Given the description of an element on the screen output the (x, y) to click on. 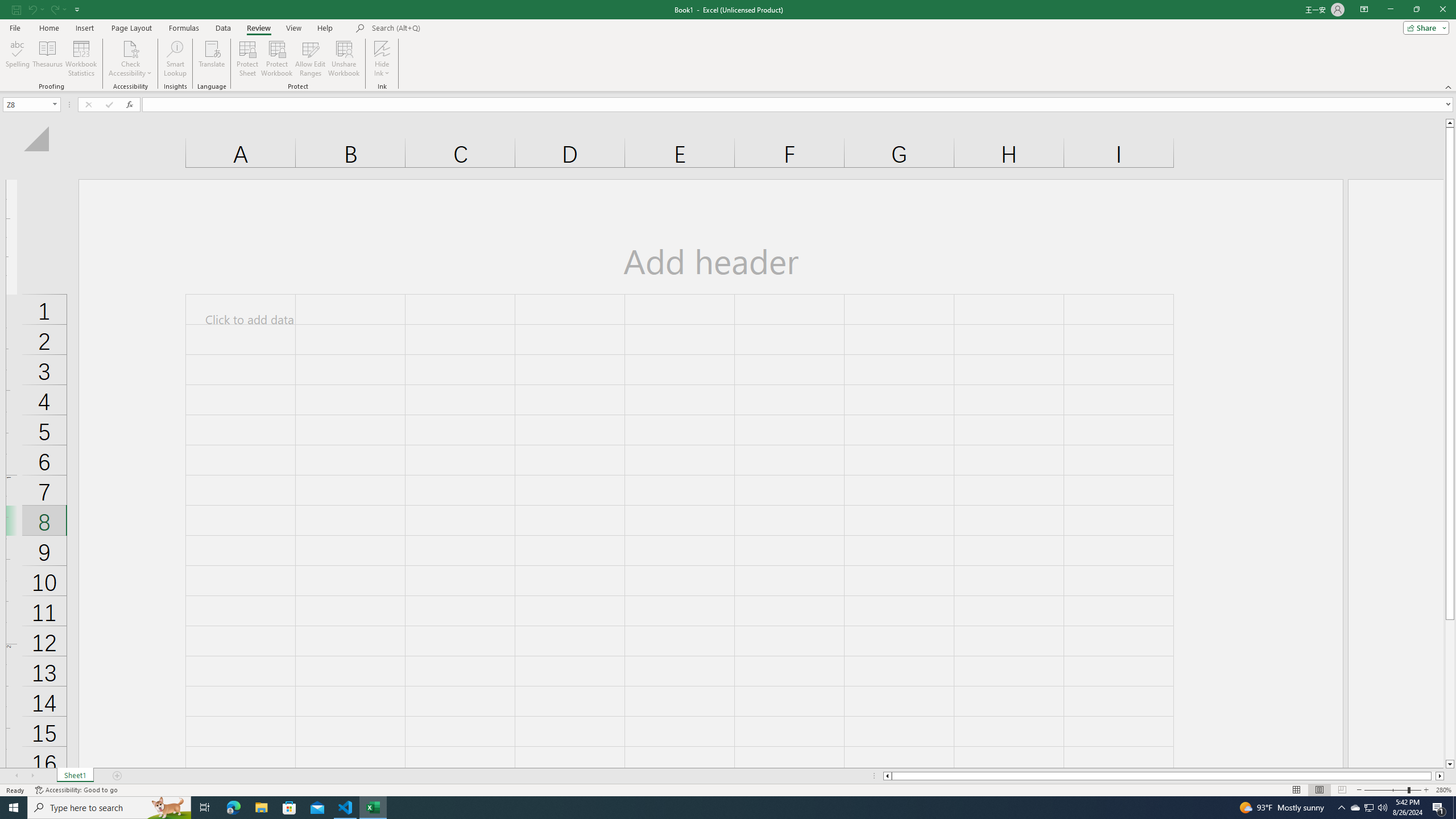
Protect Workbook... (277, 58)
Spelling... (17, 58)
Check Accessibility (129, 48)
Thesaurus... (47, 58)
Translate (211, 58)
